Given the description of an element on the screen output the (x, y) to click on. 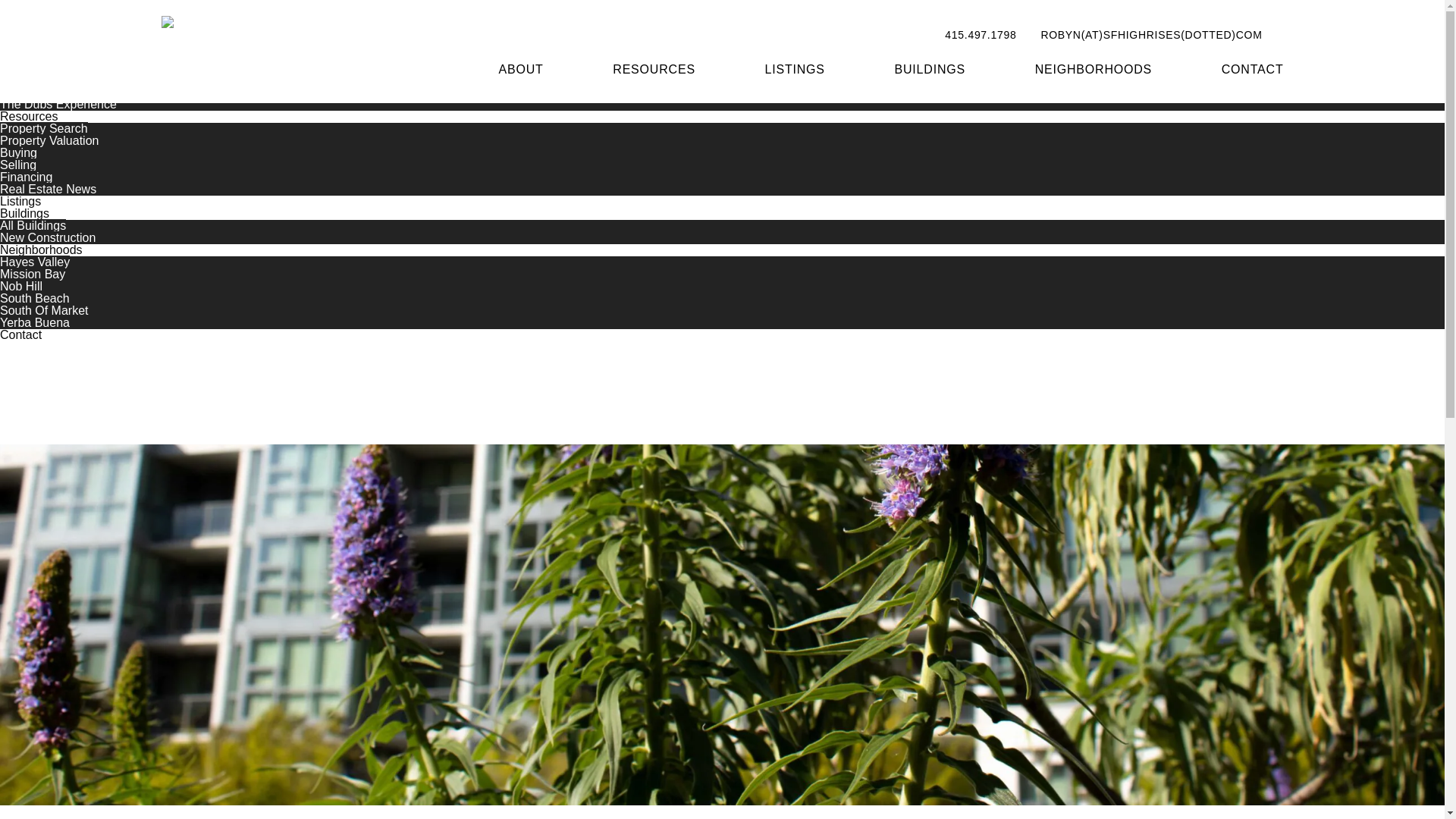
Property Valuation (49, 140)
South Of Market (44, 309)
Hayes Valley (34, 261)
Resources (29, 115)
Buying (18, 152)
About (16, 67)
Contact (21, 334)
Financing (26, 176)
Neighborhoods (41, 249)
Listings (20, 201)
